Given the description of an element on the screen output the (x, y) to click on. 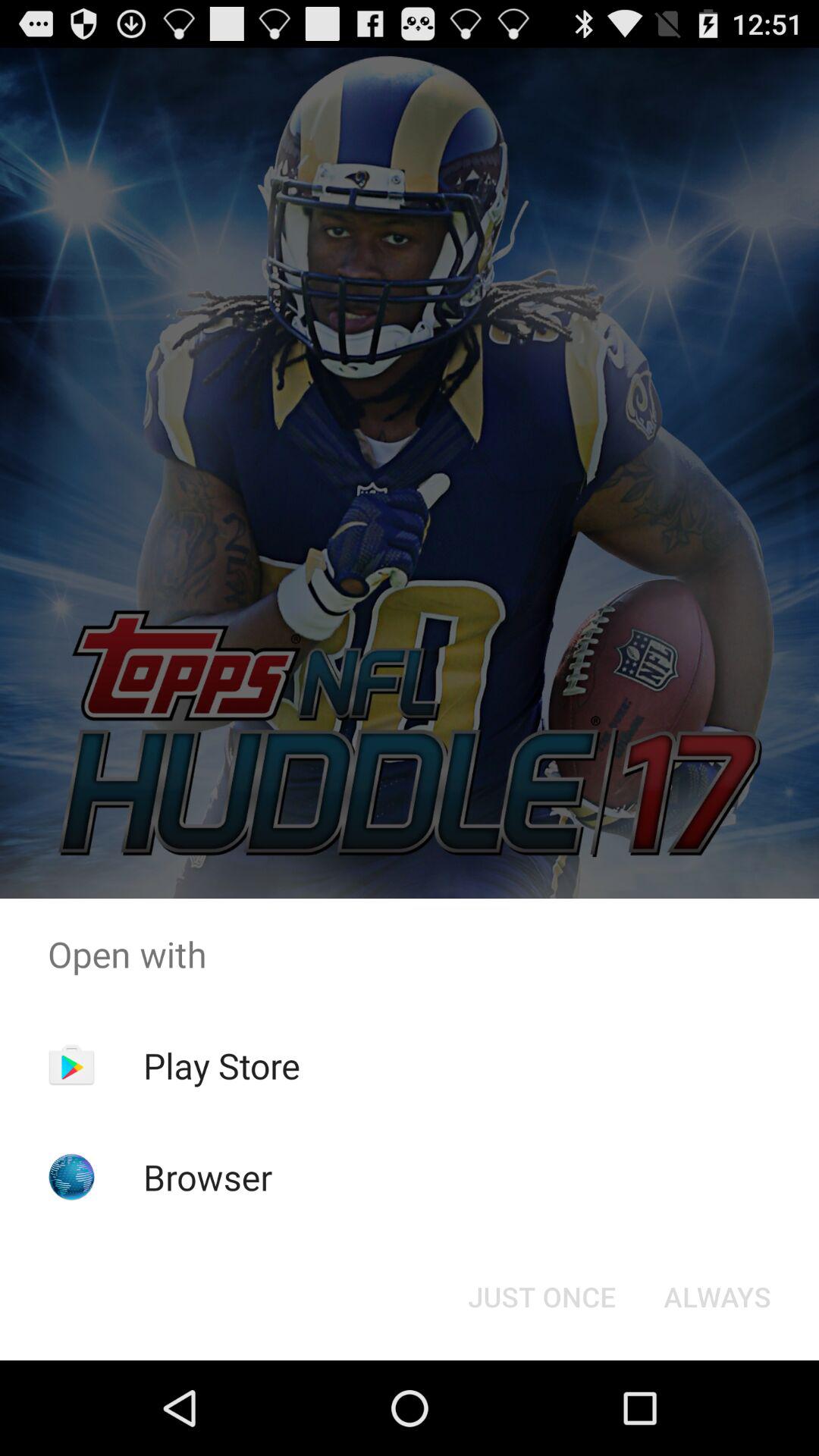
scroll to browser app (207, 1176)
